Given the description of an element on the screen output the (x, y) to click on. 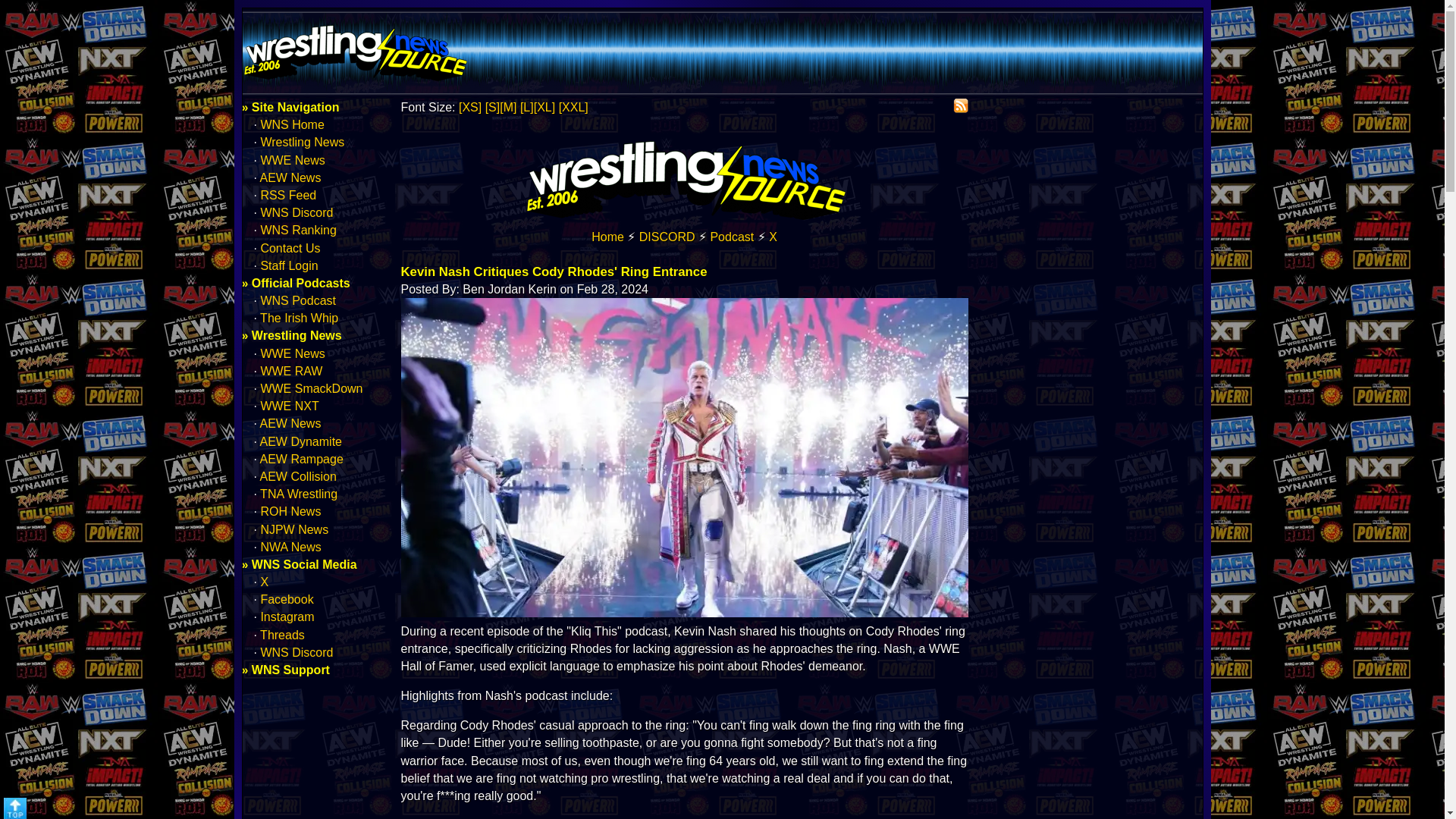
AEW Collision (298, 476)
Contact Us (290, 246)
NJPW News (294, 529)
AEW Dynamite (301, 440)
AEW News (290, 177)
NWA News (290, 546)
WWE RAW (290, 370)
WNS Ranking (298, 229)
WWE News (292, 160)
WWE News (292, 353)
